Given the description of an element on the screen output the (x, y) to click on. 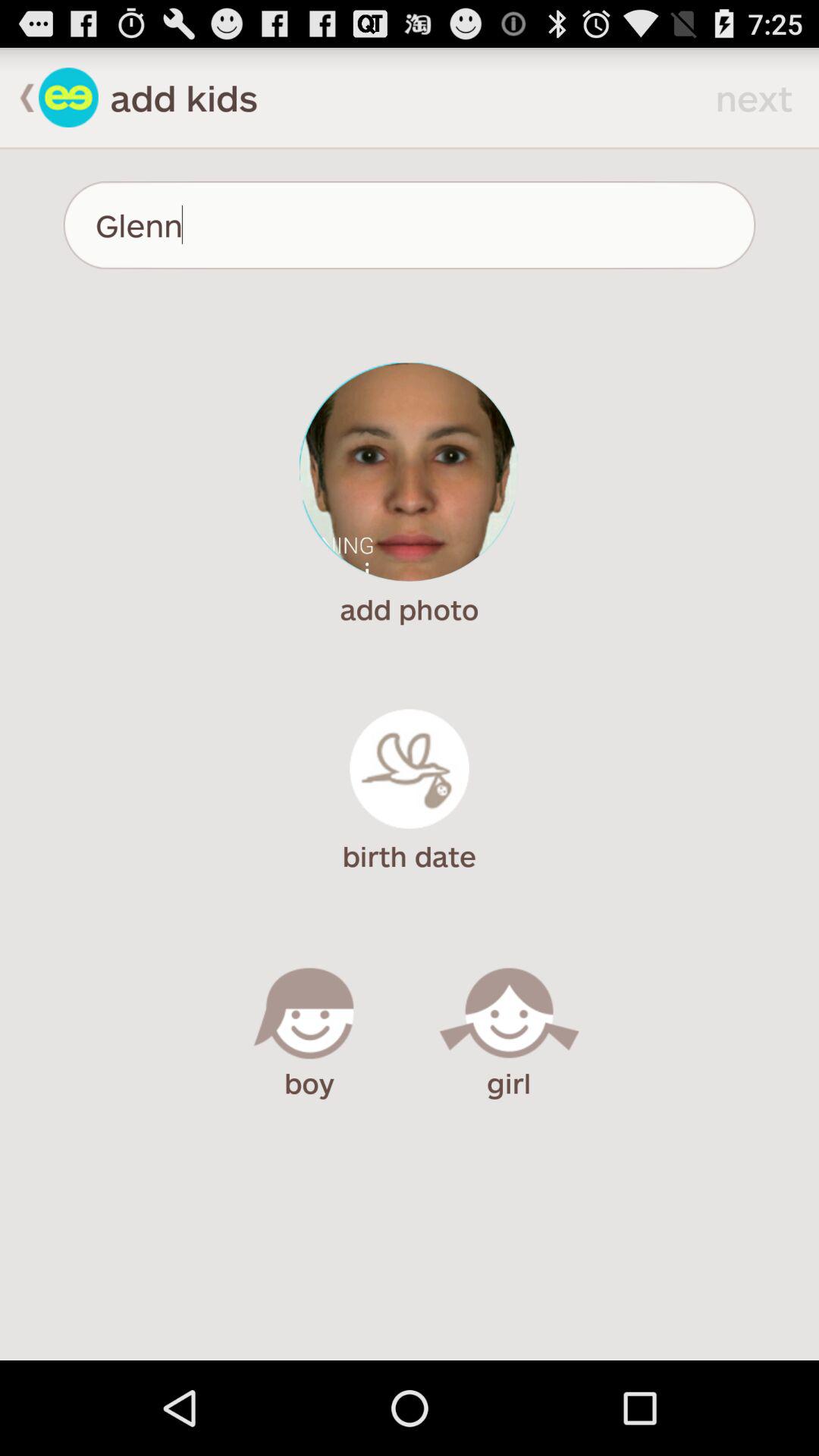
profile photo (408, 471)
